Given the description of an element on the screen output the (x, y) to click on. 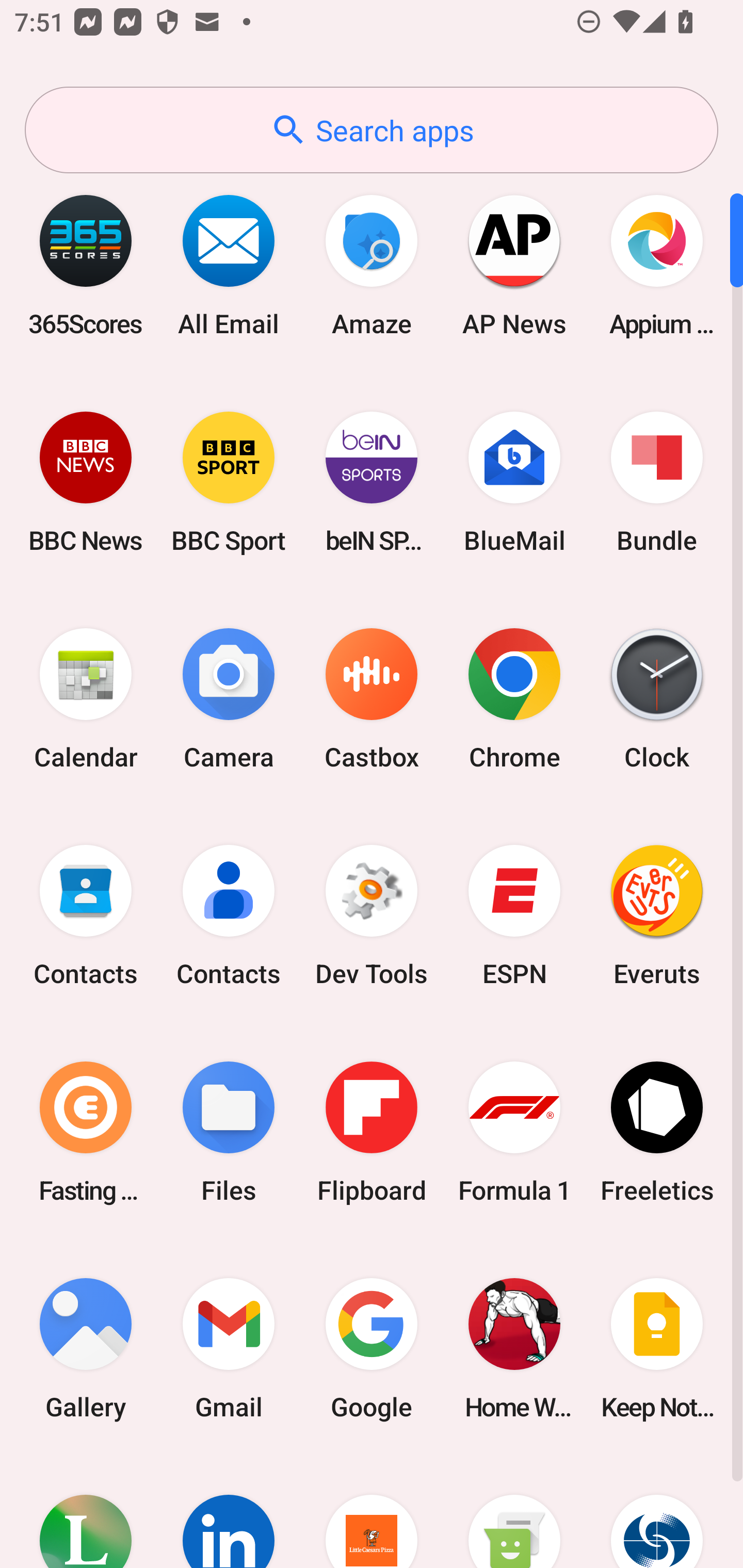
  Search apps (371, 130)
365Scores (85, 264)
All Email (228, 264)
Amaze (371, 264)
AP News (514, 264)
Appium Settings (656, 264)
BBC News (85, 482)
BBC Sport (228, 482)
beIN SPORTS (371, 482)
BlueMail (514, 482)
Bundle (656, 482)
Calendar (85, 699)
Camera (228, 699)
Castbox (371, 699)
Chrome (514, 699)
Clock (656, 699)
Contacts (85, 915)
Contacts (228, 915)
Dev Tools (371, 915)
ESPN (514, 915)
Everuts (656, 915)
Fasting Coach (85, 1131)
Files (228, 1131)
Flipboard (371, 1131)
Formula 1 (514, 1131)
Freeletics (656, 1131)
Gallery (85, 1348)
Gmail (228, 1348)
Google (371, 1348)
Home Workout (514, 1348)
Keep Notes (656, 1348)
